Given the description of an element on the screen output the (x, y) to click on. 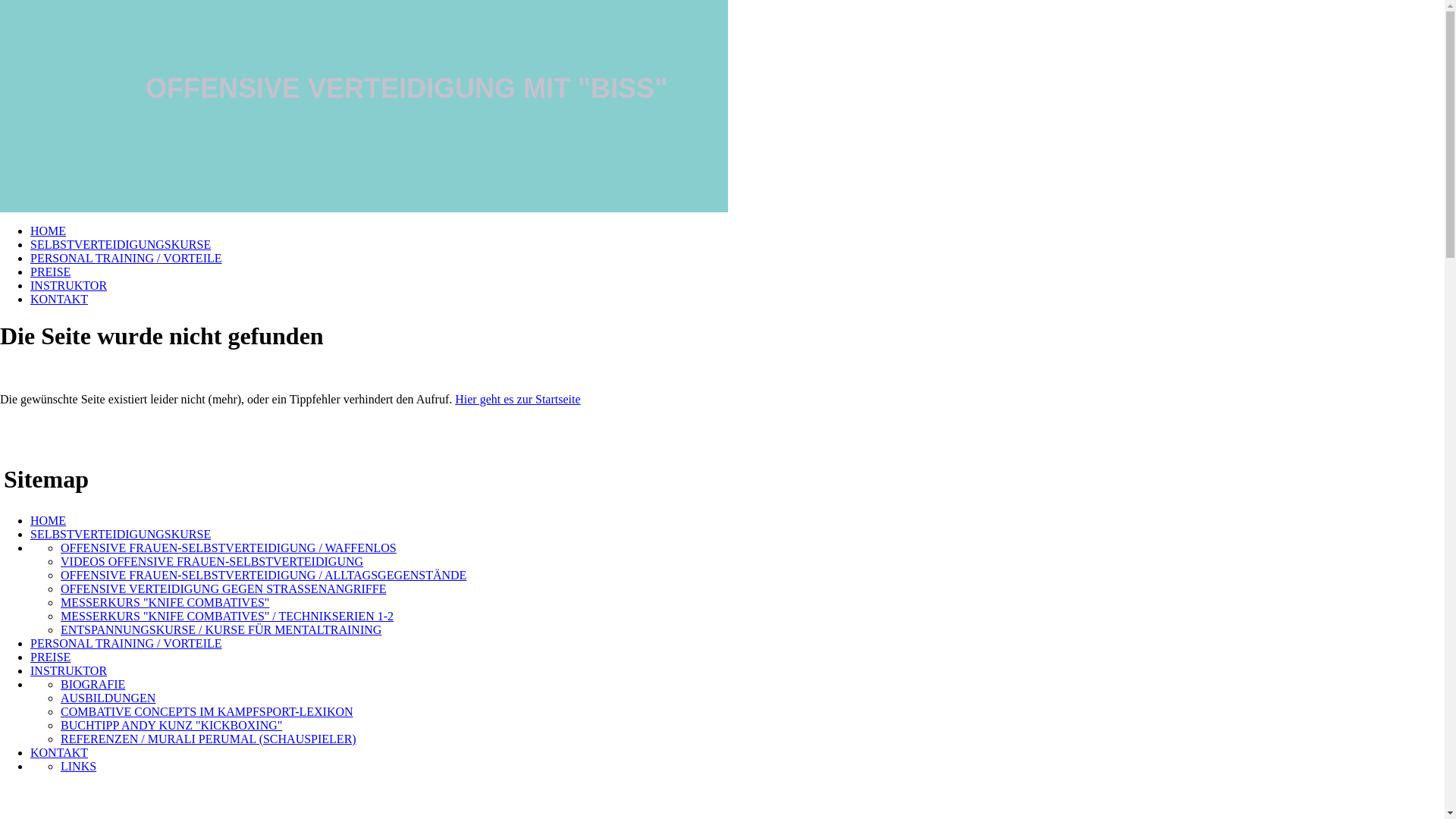
HOME Element type: text (47, 520)
HOME Element type: text (47, 230)
MESSERKURS "KNIFE COMBATIVES" Element type: text (164, 602)
PREISE Element type: text (50, 656)
OFFENSIVE FRAUEN-SELBSTVERTEIDIGUNG / WAFFENLOS Element type: text (228, 547)
VIDEOS OFFENSIVE FRAUEN-SELBSTVERTEIDIGUNG Element type: text (211, 561)
SELBSTVERTEIDIGUNGSKURSE Element type: text (120, 533)
MESSERKURS "KNIFE COMBATIVES" / TECHNIKSERIEN 1-2 Element type: text (226, 615)
PERSONAL TRAINING / VORTEILE Element type: text (126, 643)
BUCHTIPP ANDY KUNZ "KICKBOXING" Element type: text (171, 724)
REFERENZEN / MURALI PERUMAL (SCHAUSPIELER) Element type: text (208, 738)
INSTRUKTOR Element type: text (68, 285)
SELBSTVERTEIDIGUNGSKURSE Element type: text (120, 244)
PERSONAL TRAINING / VORTEILE Element type: text (126, 257)
AUSBILDUNGEN Element type: text (107, 697)
Hier geht es zur Startseite Element type: text (517, 398)
LINKS Element type: text (78, 765)
BIOGRAFIE Element type: text (92, 683)
OFFENSIVE VERTEIDIGUNG GEGEN STRASSENANGRIFFE Element type: text (222, 588)
PREISE Element type: text (50, 271)
KONTAKT Element type: text (58, 752)
KONTAKT Element type: text (58, 298)
INSTRUKTOR Element type: text (68, 670)
COMBATIVE CONCEPTS IM KAMPFSPORT-LEXIKON Element type: text (206, 711)
